Given the description of an element on the screen output the (x, y) to click on. 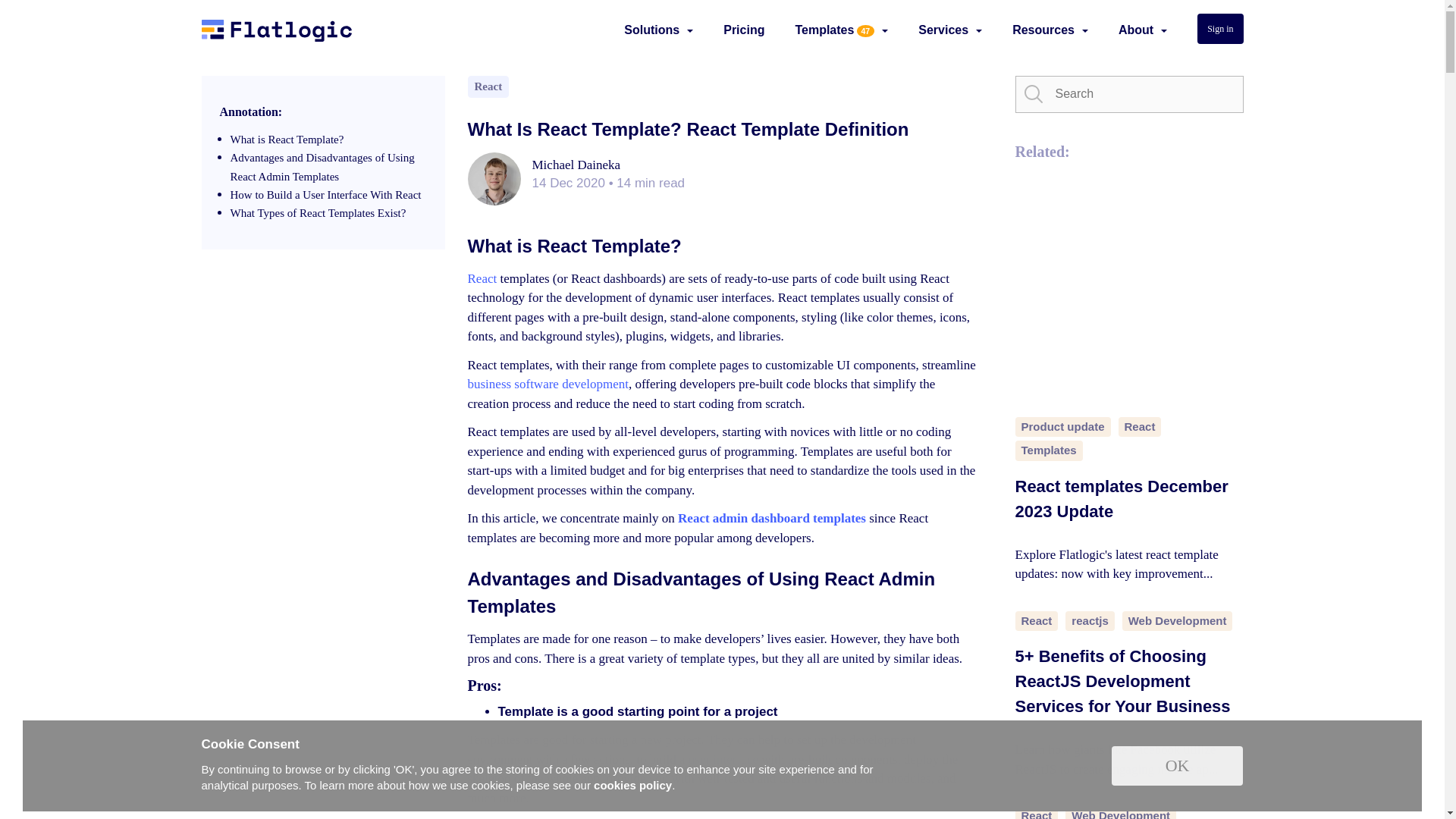
Solutions (651, 30)
Pricing (743, 30)
Templates (823, 30)
Services (943, 30)
